Given the description of an element on the screen output the (x, y) to click on. 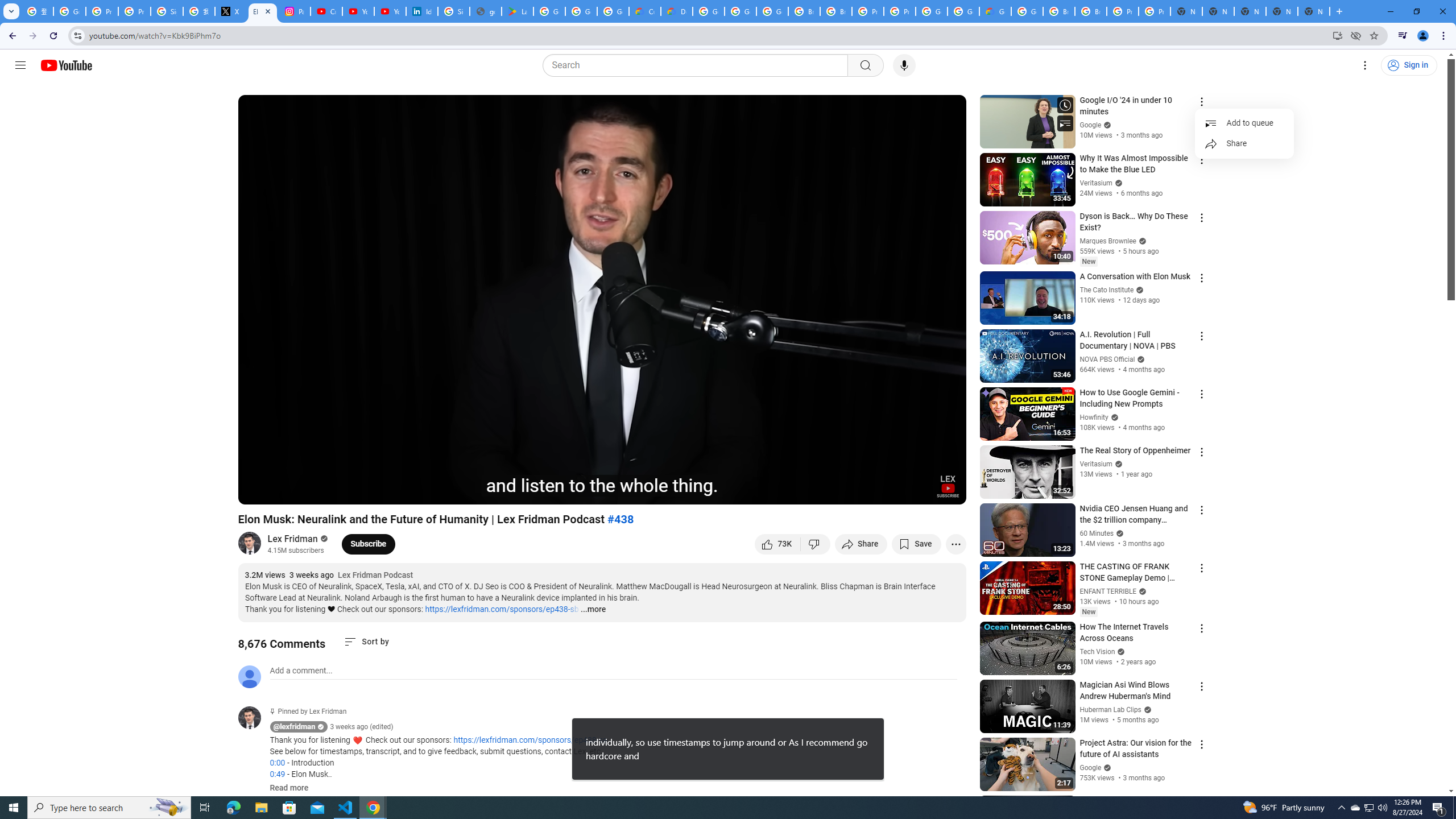
Browse Chrome as a guest - Computer - Google Chrome Help (836, 11)
Play (k) (257, 490)
Google Workspace - Specific Terms (613, 11)
Subscribe to Lex Fridman. (368, 543)
YouTube Home (66, 65)
https://lexfridman.com/sponsors/ep438-sa (529, 740)
Lex Fridman (292, 538)
Default profile photo (248, 676)
Browse Chrome as a guest - Computer - Google Chrome Help (804, 11)
